Given the description of an element on the screen output the (x, y) to click on. 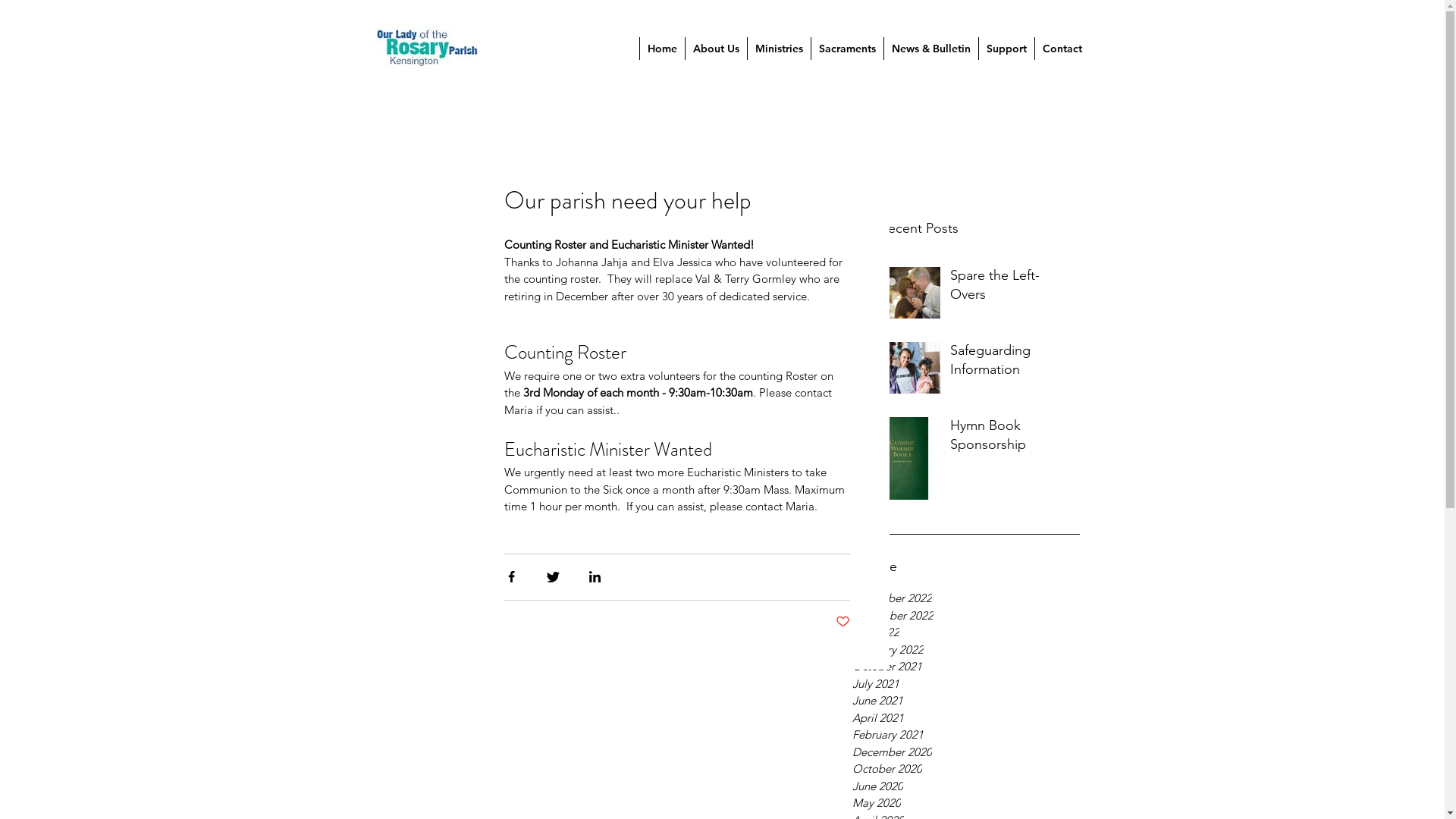
June 2020 Element type: text (965, 786)
Contact Element type: text (1061, 48)
December 2020 Element type: text (965, 751)
Safeguarding Information Element type: text (1009, 363)
Post not marked as liked Element type: text (842, 622)
April 2021 Element type: text (965, 718)
November 2022 Element type: text (965, 615)
June 2021 Element type: text (965, 700)
July 2022 Element type: text (965, 632)
News & Bulletin Element type: text (929, 48)
Home Element type: text (661, 48)
Ministries Element type: text (777, 48)
October 2020 Element type: text (965, 769)
February 2021 Element type: text (965, 734)
Support Element type: text (1006, 48)
May 2020 Element type: text (965, 803)
October 2021 Element type: text (965, 666)
Sacraments Element type: text (845, 48)
December 2022 Element type: text (965, 598)
About Us Element type: text (715, 48)
Spare the Left-Overs Element type: text (1009, 288)
July 2021 Element type: text (965, 683)
Hymn Book Sponsorship Element type: text (1009, 438)
February 2022 Element type: text (965, 649)
